Given the description of an element on the screen output the (x, y) to click on. 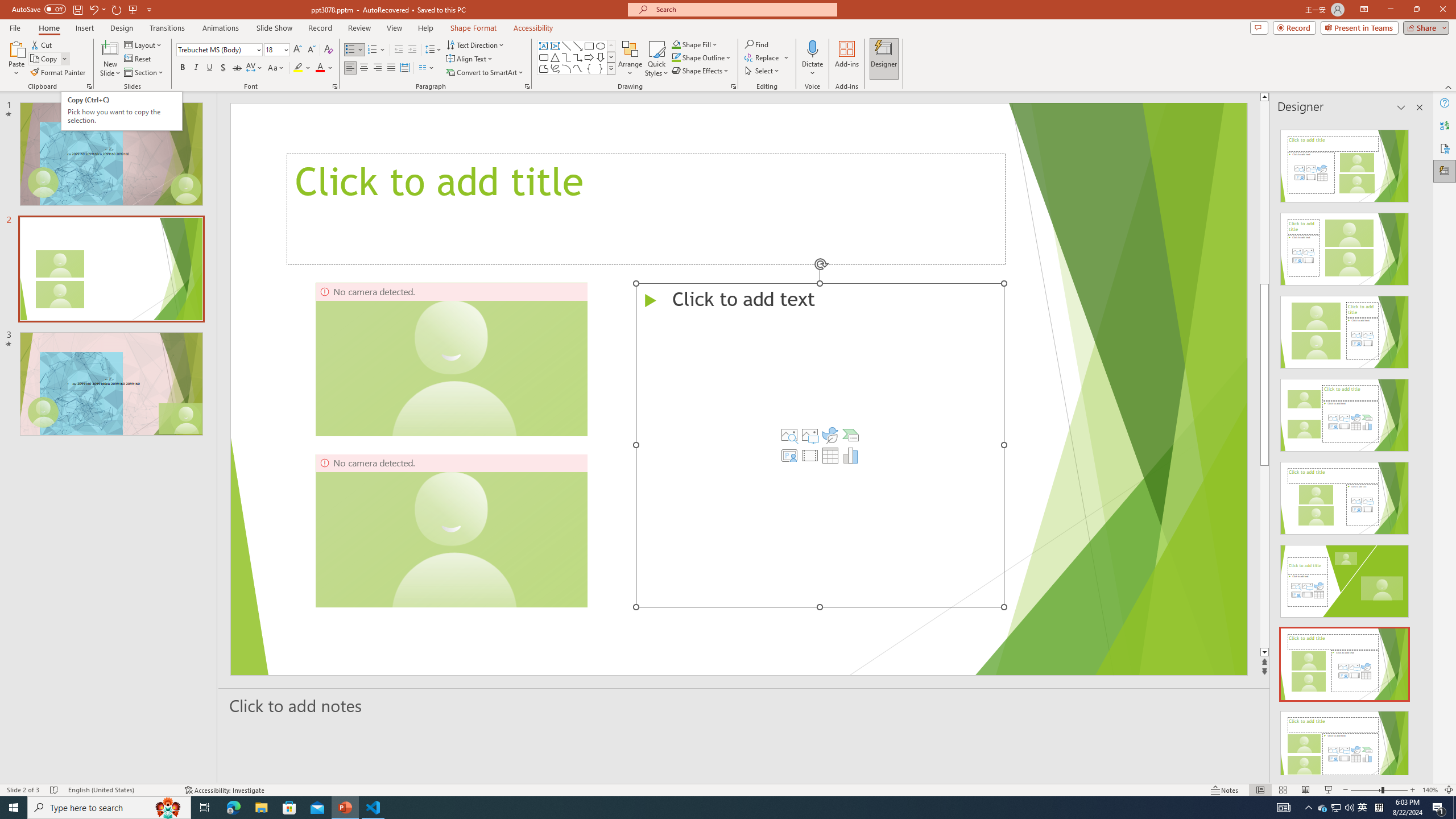
Insert Chart (850, 455)
Design Idea (1344, 743)
